Given the description of an element on the screen output the (x, y) to click on. 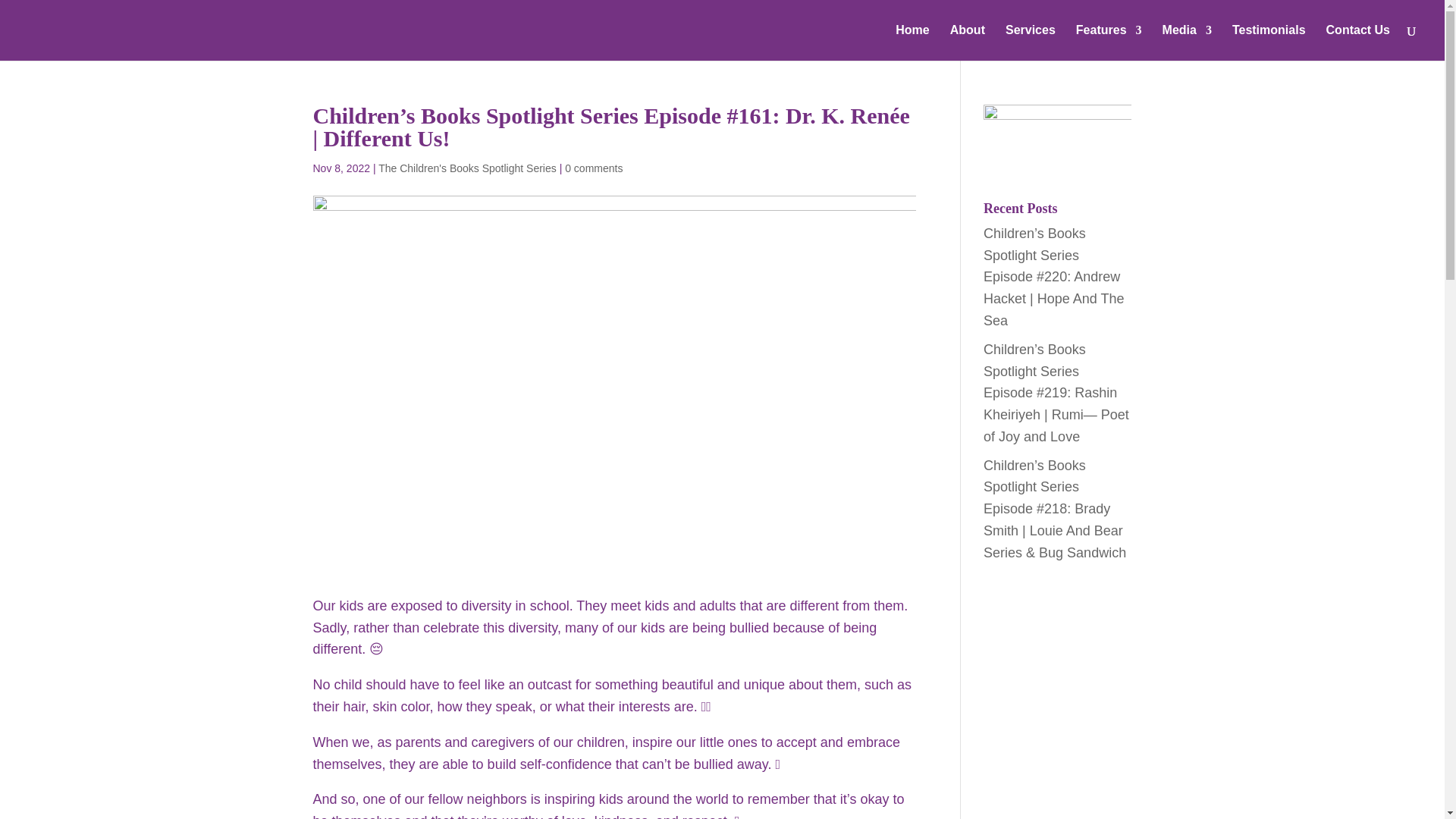
0 comments (593, 168)
About (967, 42)
Contact Us (1358, 42)
Testimonials (1268, 42)
Media (1186, 42)
The Children's Books Spotlight Series (467, 168)
Home (911, 42)
Services (1030, 42)
Features (1108, 42)
